Given the description of an element on the screen output the (x, y) to click on. 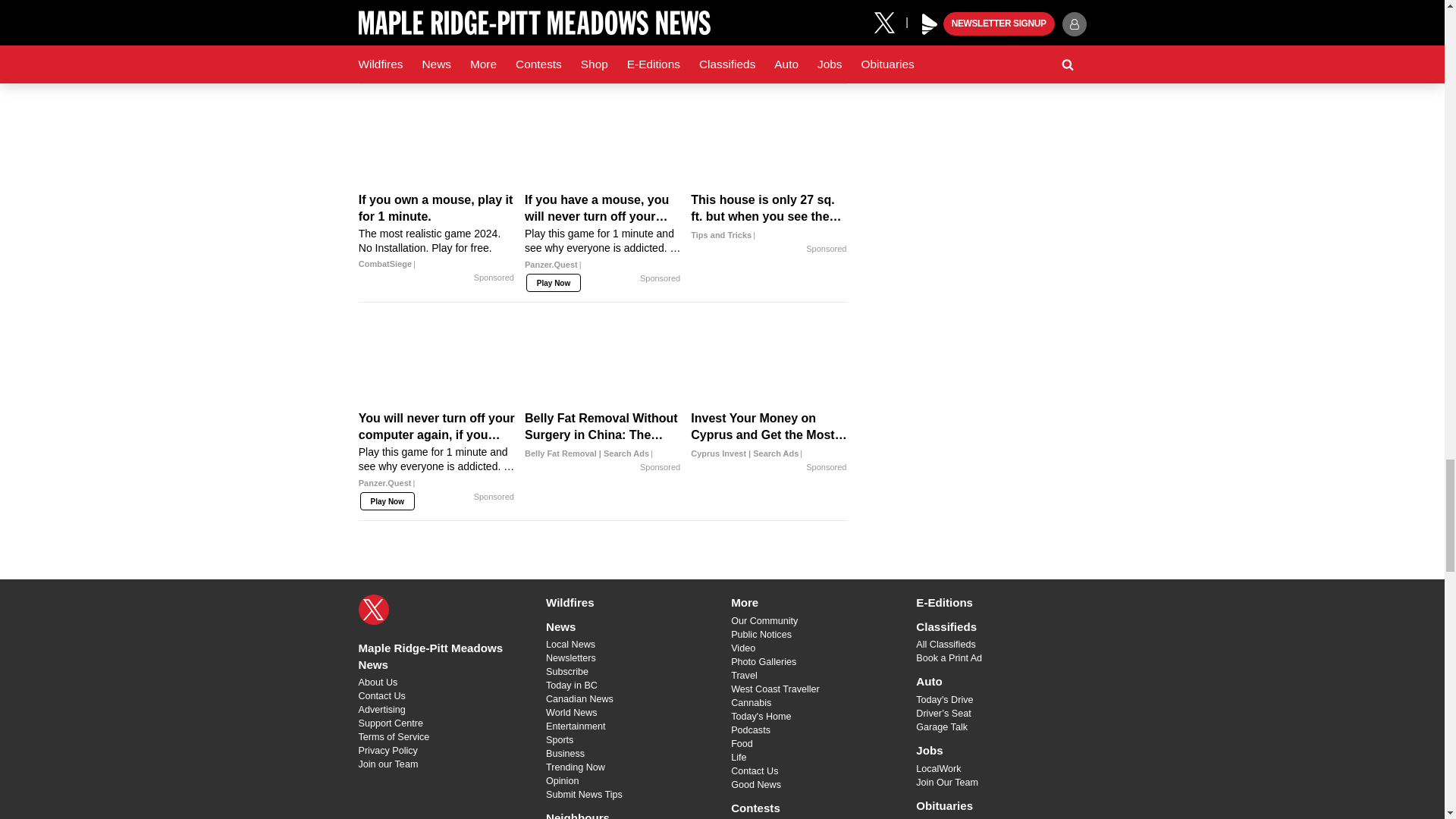
Login (727, 17)
This has been shared 0 times (478, 17)
This has been shared 0 times (478, 54)
Login (727, 54)
If you own a mouse, play it for 1 minute. (436, 143)
If you own a mouse, play it for 1 minute. (436, 231)
